Given the description of an element on the screen output the (x, y) to click on. 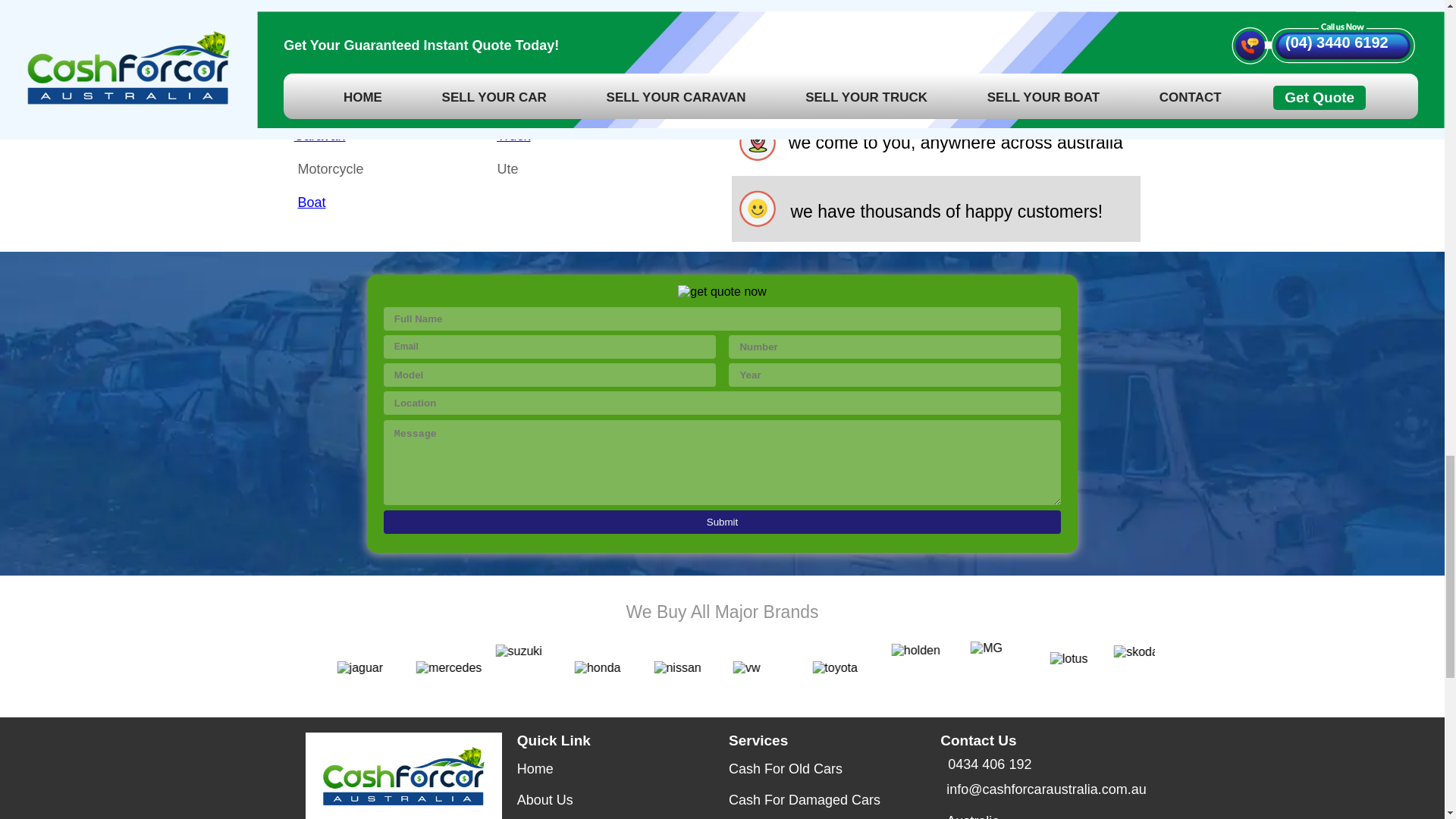
Please type a number (895, 346)
Submit (722, 521)
Please type a valid year e.g. 2020 (895, 374)
